Given the description of an element on the screen output the (x, y) to click on. 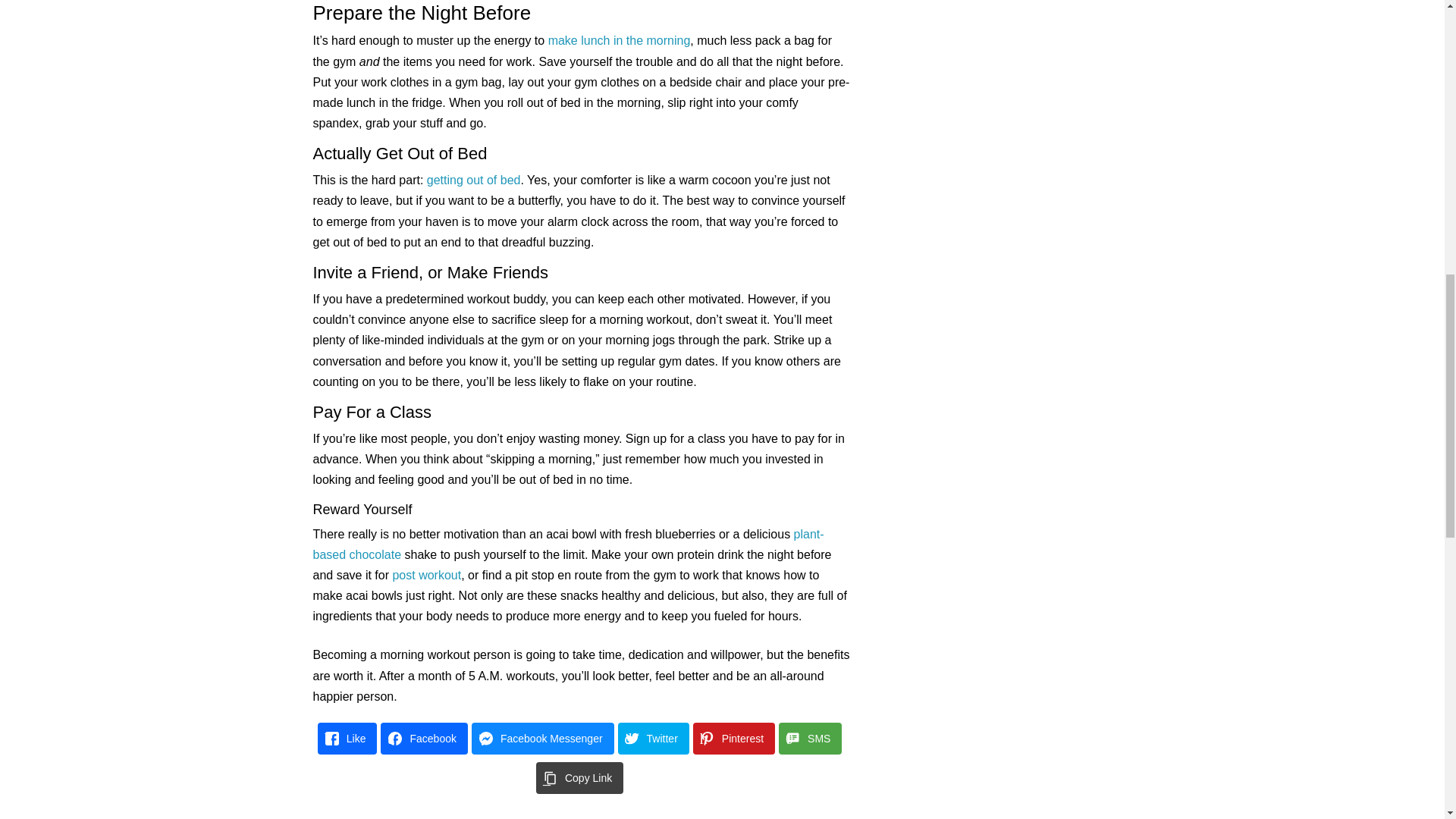
Share on Facebook Messenger (542, 738)
Share on Copy Link (579, 777)
Share on Like (347, 738)
Share on Twitter (652, 738)
Share on Facebook (423, 738)
Share on SMS (809, 738)
Share on Pinterest (733, 738)
